Given the description of an element on the screen output the (x, y) to click on. 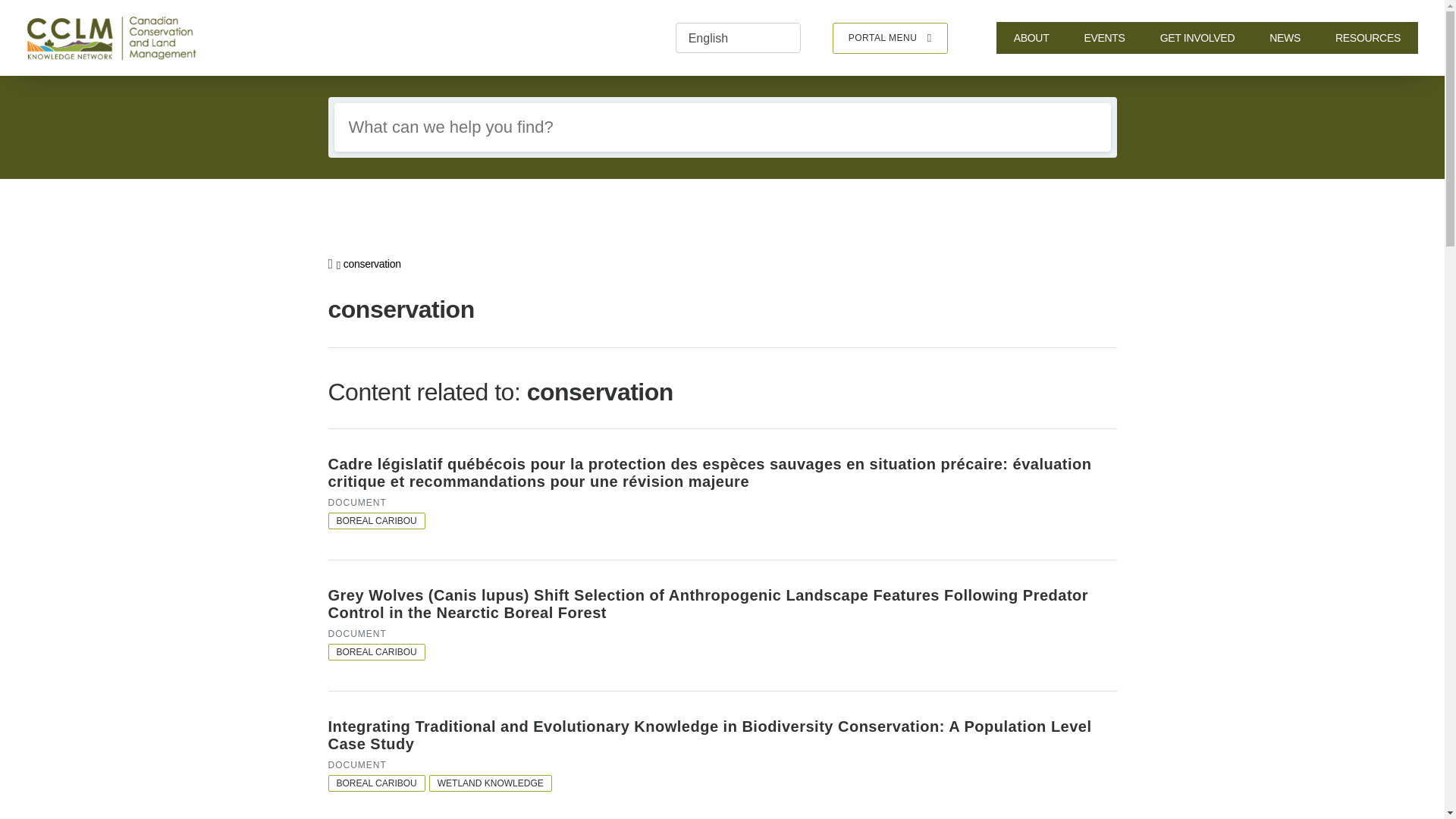
WETLAND KNOWLEDGE (490, 782)
BOREAL CARIBOU (376, 520)
Skip to main content (8, 9)
Search (1084, 127)
Home (117, 38)
RESOURCES (1367, 38)
Search (1084, 127)
BOREAL CARIBOU (376, 651)
BOREAL CARIBOU (376, 782)
GET INVOLVED (1197, 38)
EVENTS (1103, 38)
ABOUT (1031, 38)
NEWS (1284, 38)
